Given the description of an element on the screen output the (x, y) to click on. 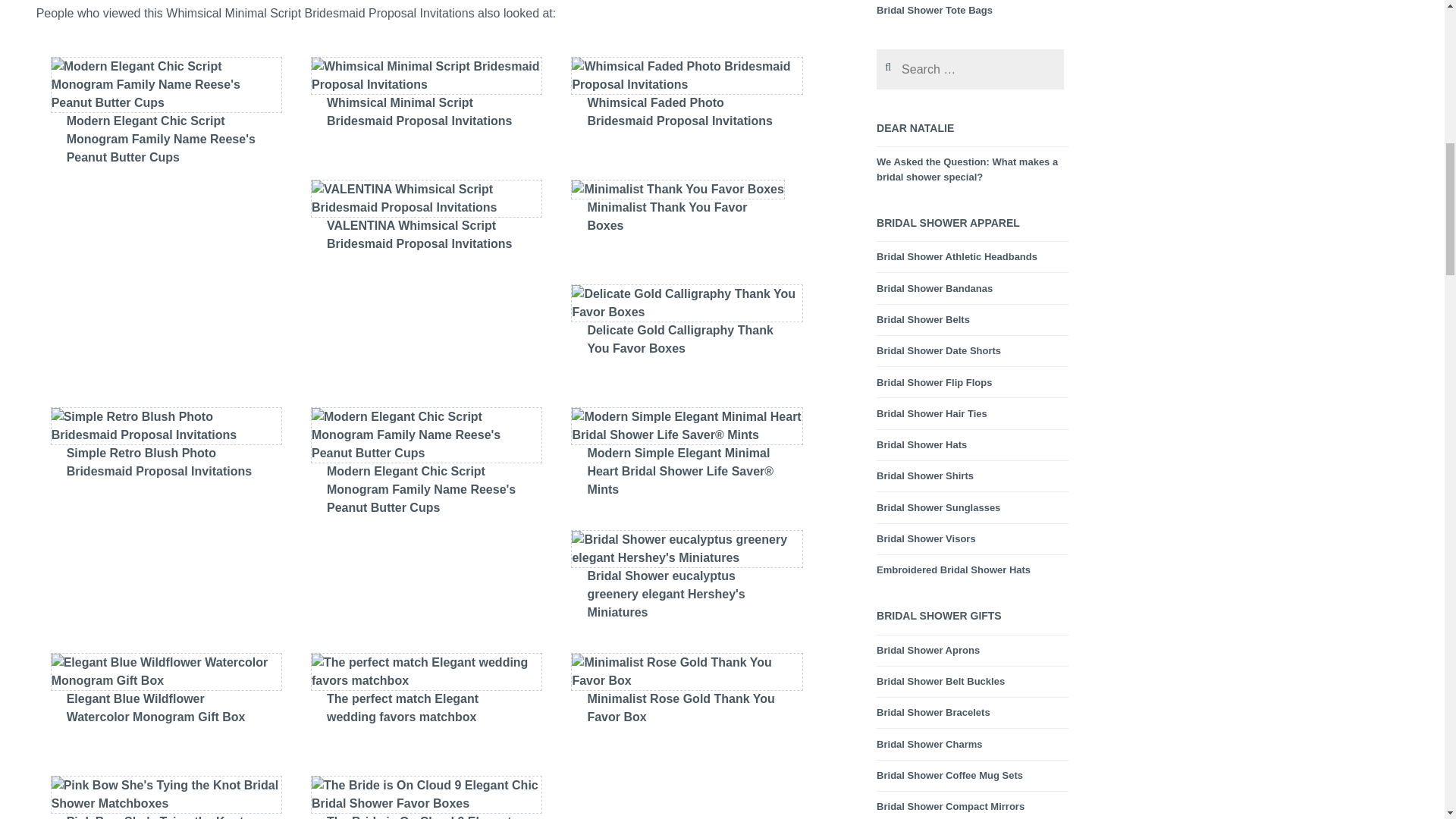
VALENTINA Whimsical Script Bridesmaid Proposal Invitations (426, 235)
The perfect match Elegant wedding favors matchbox (426, 709)
Whimsical Minimal Script Bridesmaid Proposal Invitations (426, 112)
Delicate Gold Calligraphy Thank You Favor Boxes (687, 340)
Pink Bow She's Tying the Knot Bridal Shower Matchboxes (165, 807)
Simple Retro Blush Photo Bridesmaid Proposal Invitations (165, 463)
Elegant Blue Wildflower Watercolor Monogram Gift Box (165, 709)
Minimalist Thank You Favor Boxes (687, 217)
